Given the description of an element on the screen output the (x, y) to click on. 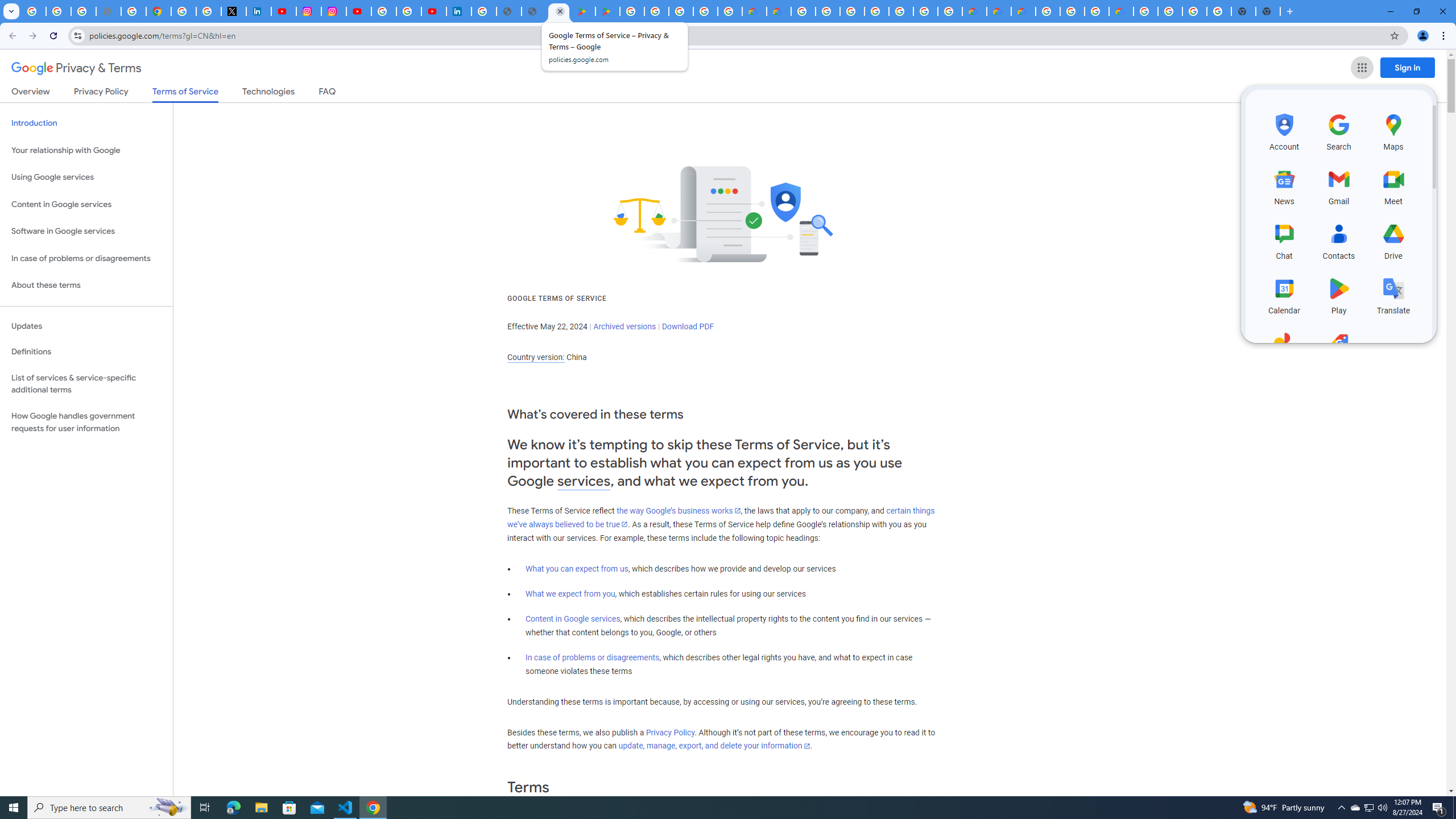
LinkedIn Privacy Policy (258, 11)
Google Cloud Platform (1145, 11)
Definitions (86, 352)
Country version: (535, 357)
Privacy Policy (669, 732)
Overview (30, 93)
Close (559, 11)
New Tab (1289, 11)
Google Cloud Pricing Calculator (998, 11)
Google Cloud Platform (1170, 11)
Content in Google services (572, 618)
